Given the description of an element on the screen output the (x, y) to click on. 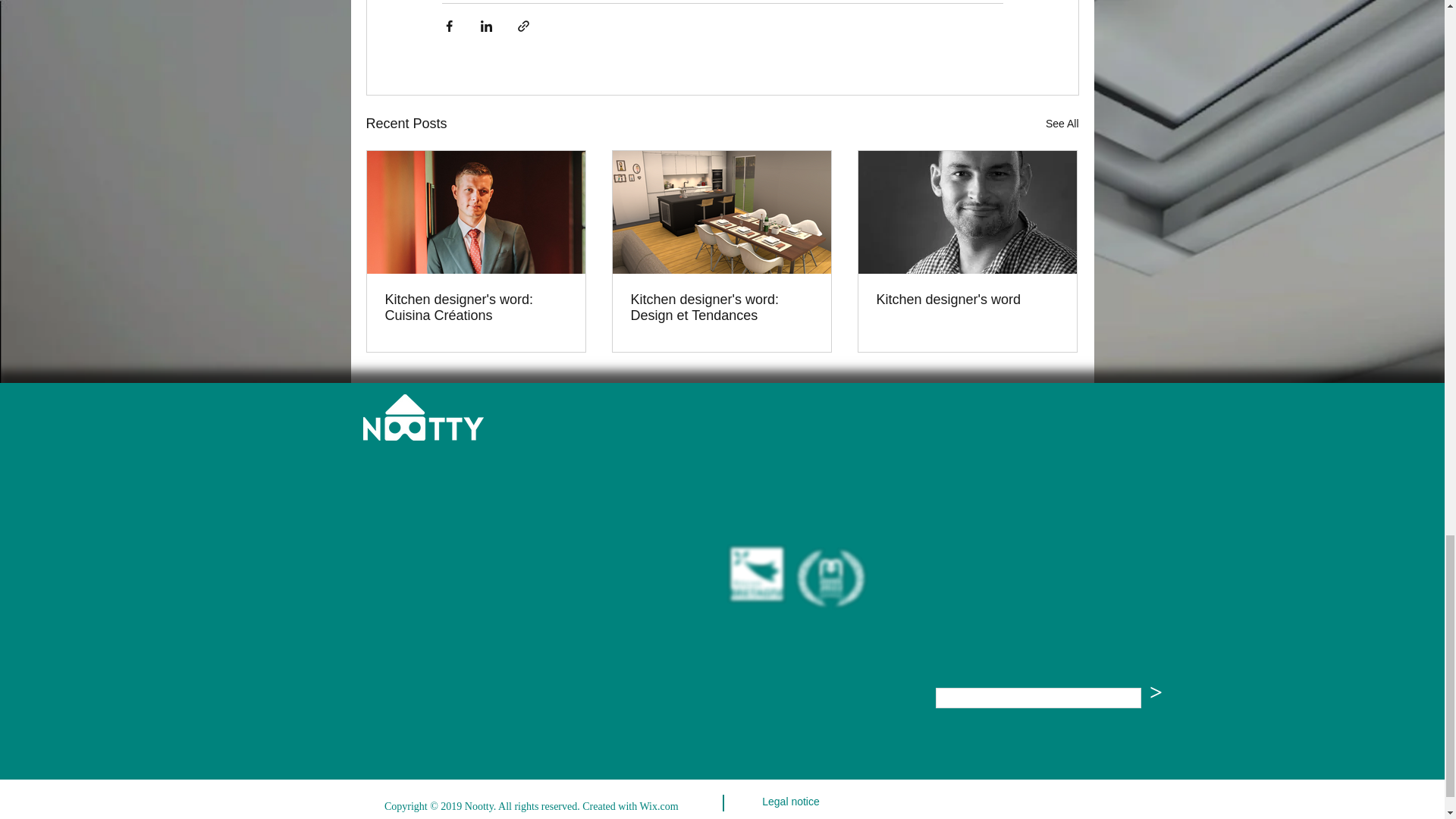
Kitchen designer's word: Design et Tendances (721, 307)
Legal notice (790, 801)
Kitchen designer's word (967, 299)
Wix.com  (660, 806)
See All (1061, 124)
